Given the description of an element on the screen output the (x, y) to click on. 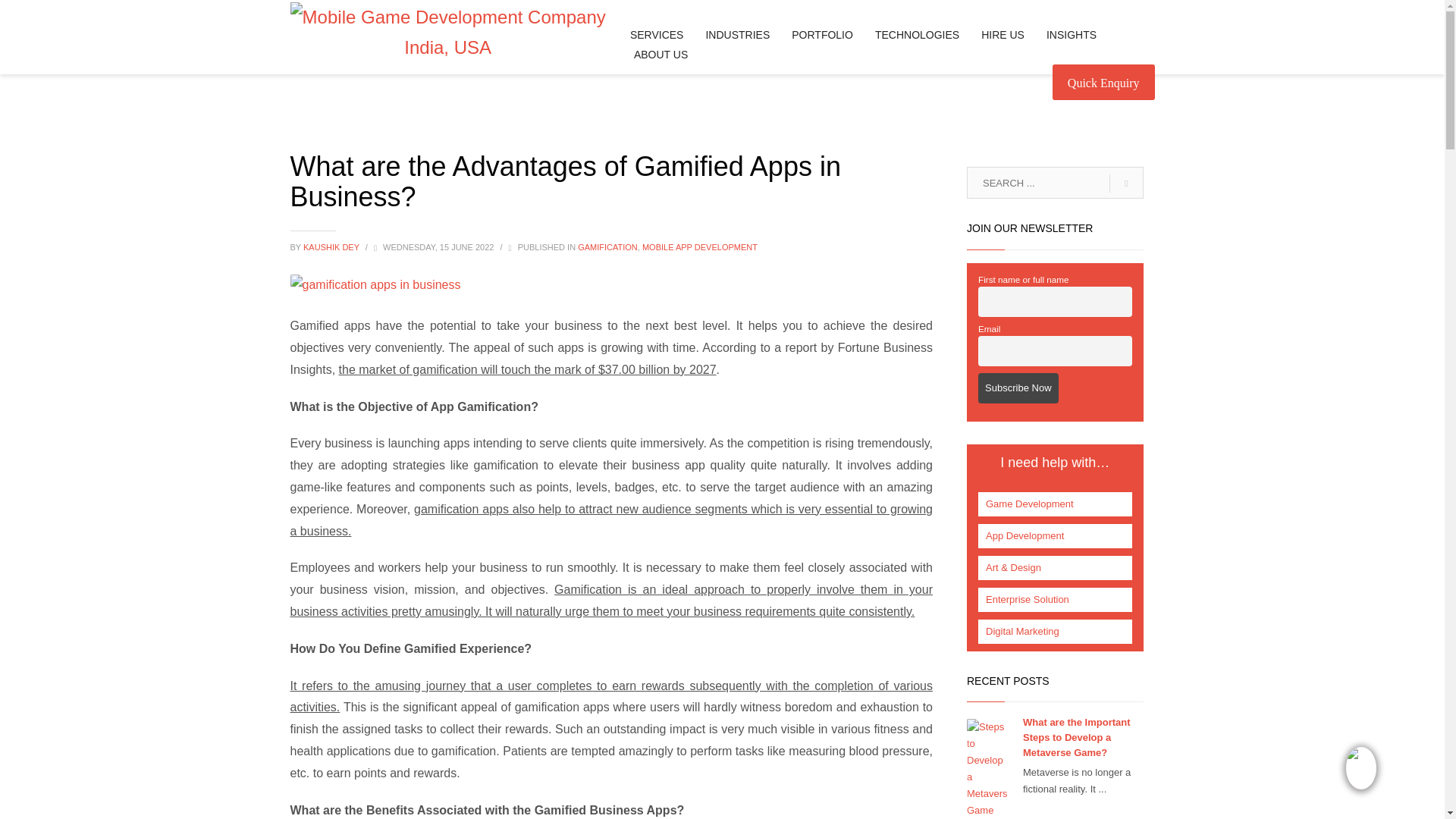
Get a Quote (1103, 81)
INDUSTRIES (736, 35)
What are the Advantages of Gamified Apps in Business? (374, 285)
SERVICES (657, 35)
What are the Important Steps to Develop a Metaverse Game? (1077, 737)
Subscribe Now (1018, 388)
Red Apple Technologies Pvt. Ltd (447, 32)
